Given the description of an element on the screen output the (x, y) to click on. 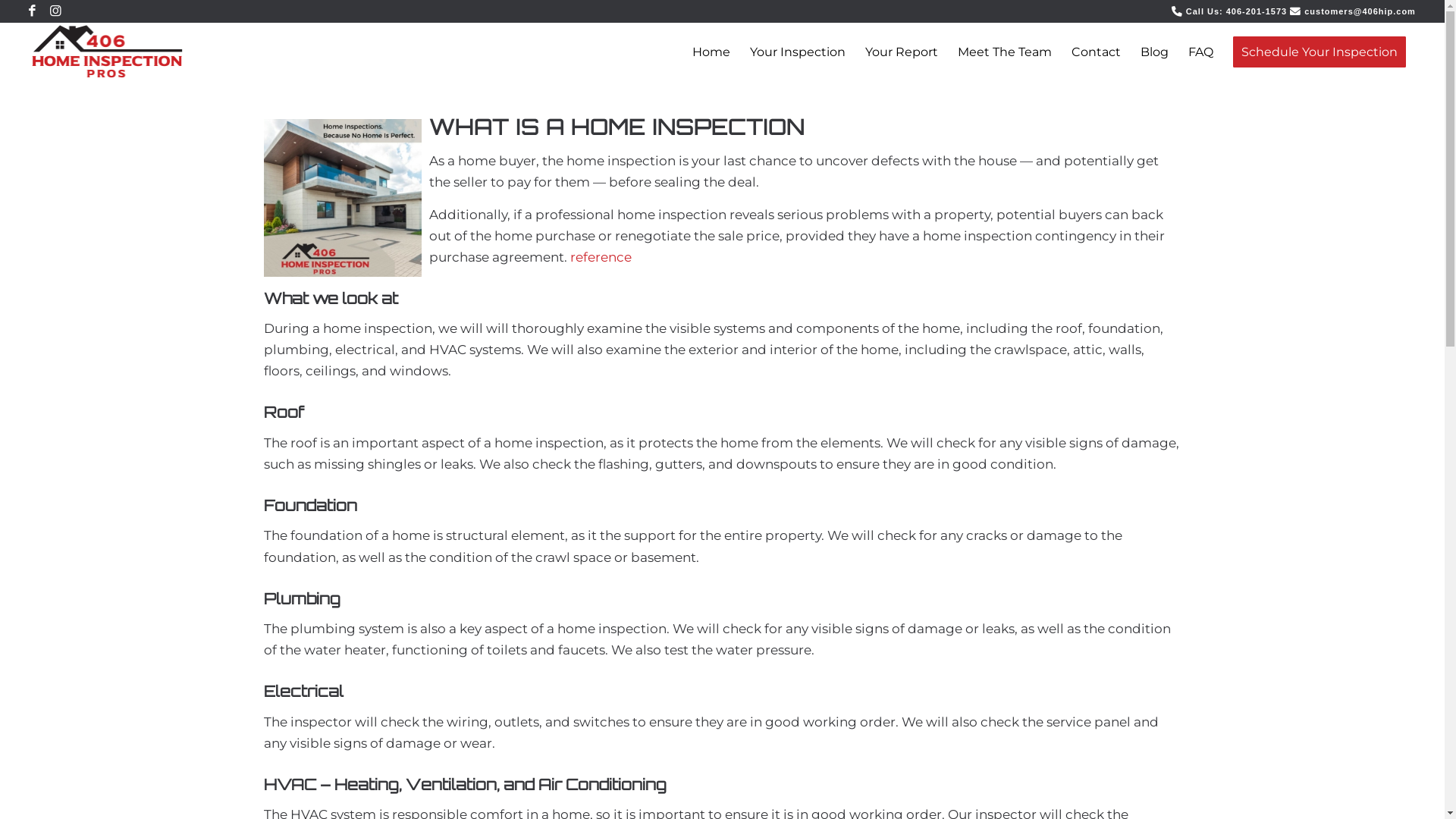
customers@406hip.com Element type: text (1359, 10)
Instagram Element type: hover (55, 11)
Call Us: 406-201-1573 Element type: text (1236, 10)
Home Element type: text (711, 51)
Blog Element type: text (1154, 51)
Schedule Your Inspection Element type: text (1319, 51)
FAQ Element type: text (1200, 51)
Your Report Element type: text (901, 51)
Contact Element type: text (1095, 51)
reference Element type: text (600, 256)
Your Inspection Element type: text (797, 51)
Meet The Team Element type: text (1004, 51)
Facebook Element type: hover (32, 11)
